Given the description of an element on the screen output the (x, y) to click on. 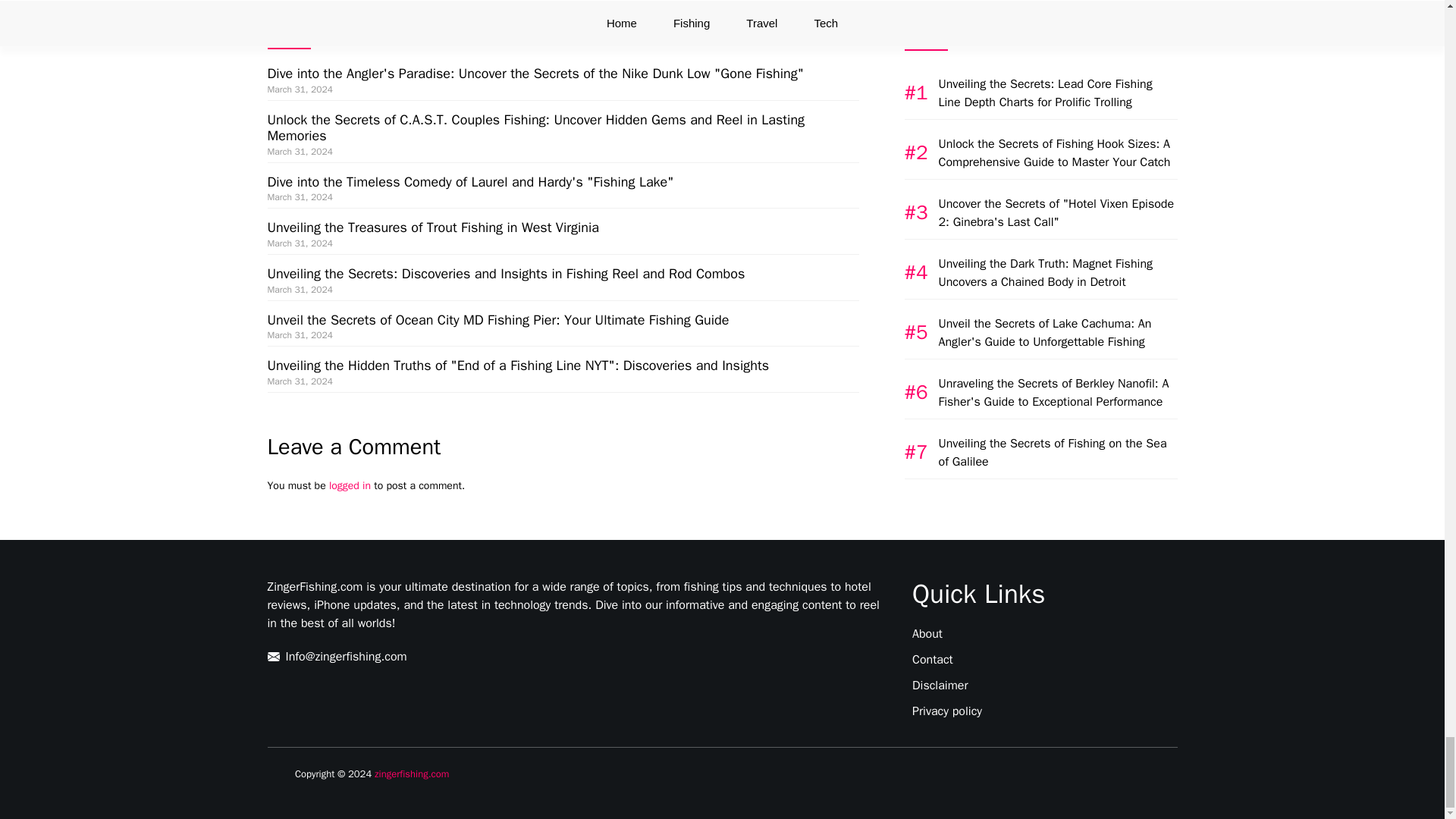
Unveiling the Treasures of Trout Fishing in West Virginia (432, 227)
